Given the description of an element on the screen output the (x, y) to click on. 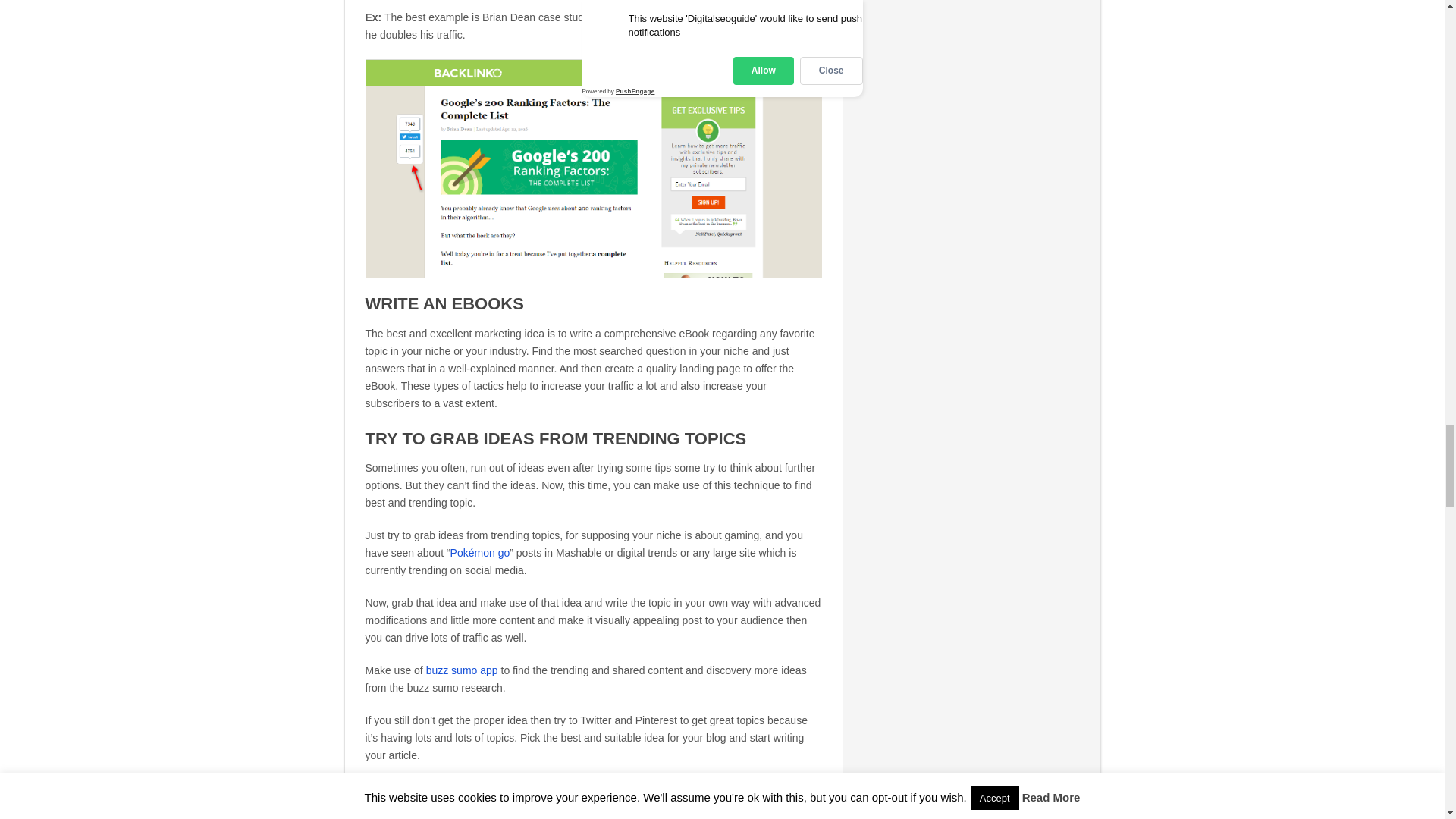
Namecheap Vs Godaddy (439, 805)
skyscraper technique (655, 17)
buzz sumo app (461, 670)
Bluehost review (550, 809)
